Given the description of an element on the screen output the (x, y) to click on. 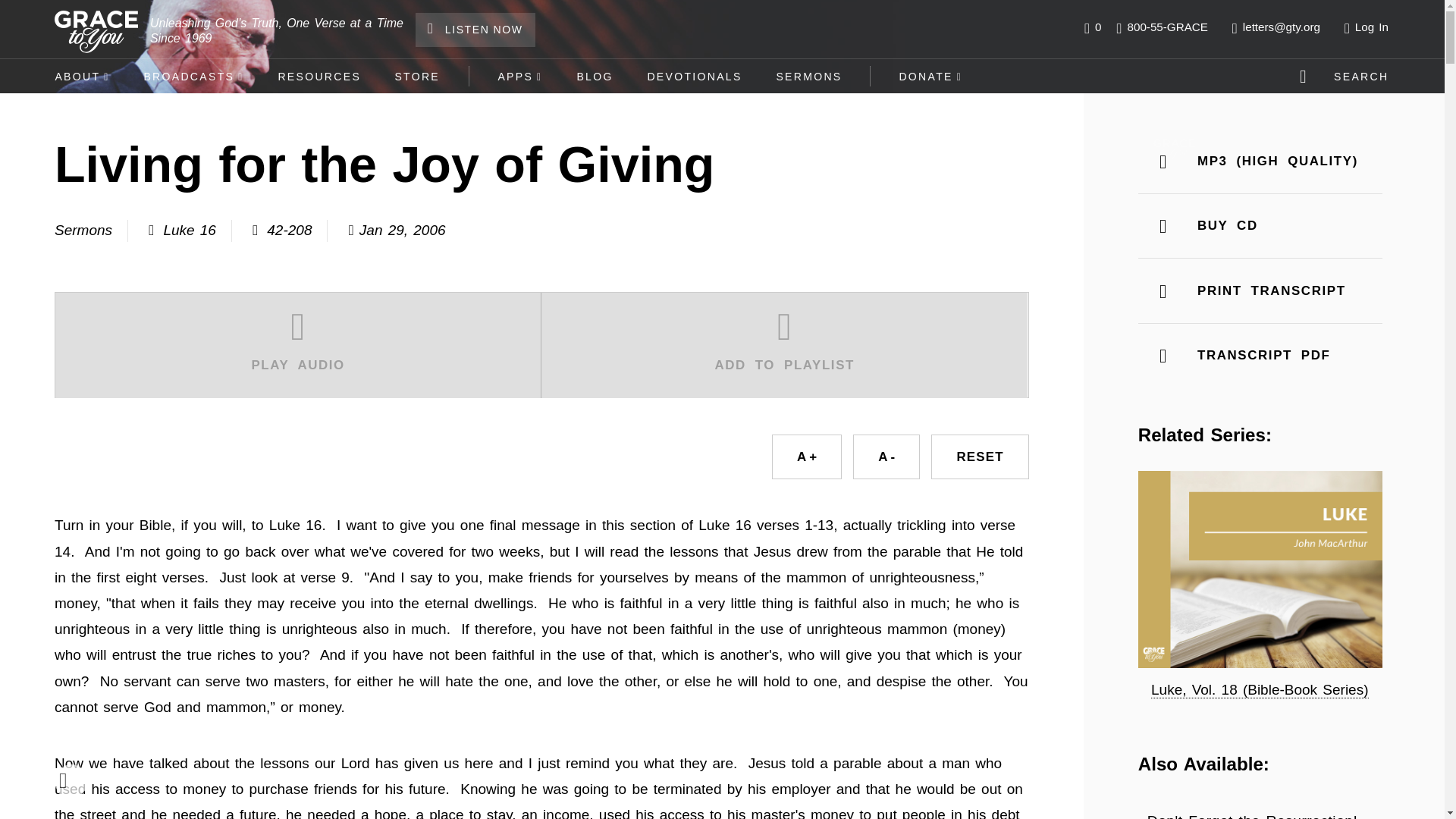
STORE (417, 76)
Grace-to-You (96, 32)
Grace to You (1174, 148)
DONATE (930, 76)
800-55-GRACE (1162, 28)
Log In (1369, 28)
RESOURCES (318, 76)
ABOUT (81, 76)
SERMONS (808, 76)
0 (1092, 28)
BROADCASTS (193, 76)
BLOG (594, 76)
LISTEN NOW (474, 29)
SEARCH (1347, 76)
Grace-to-You (96, 31)
